Given the description of an element on the screen output the (x, y) to click on. 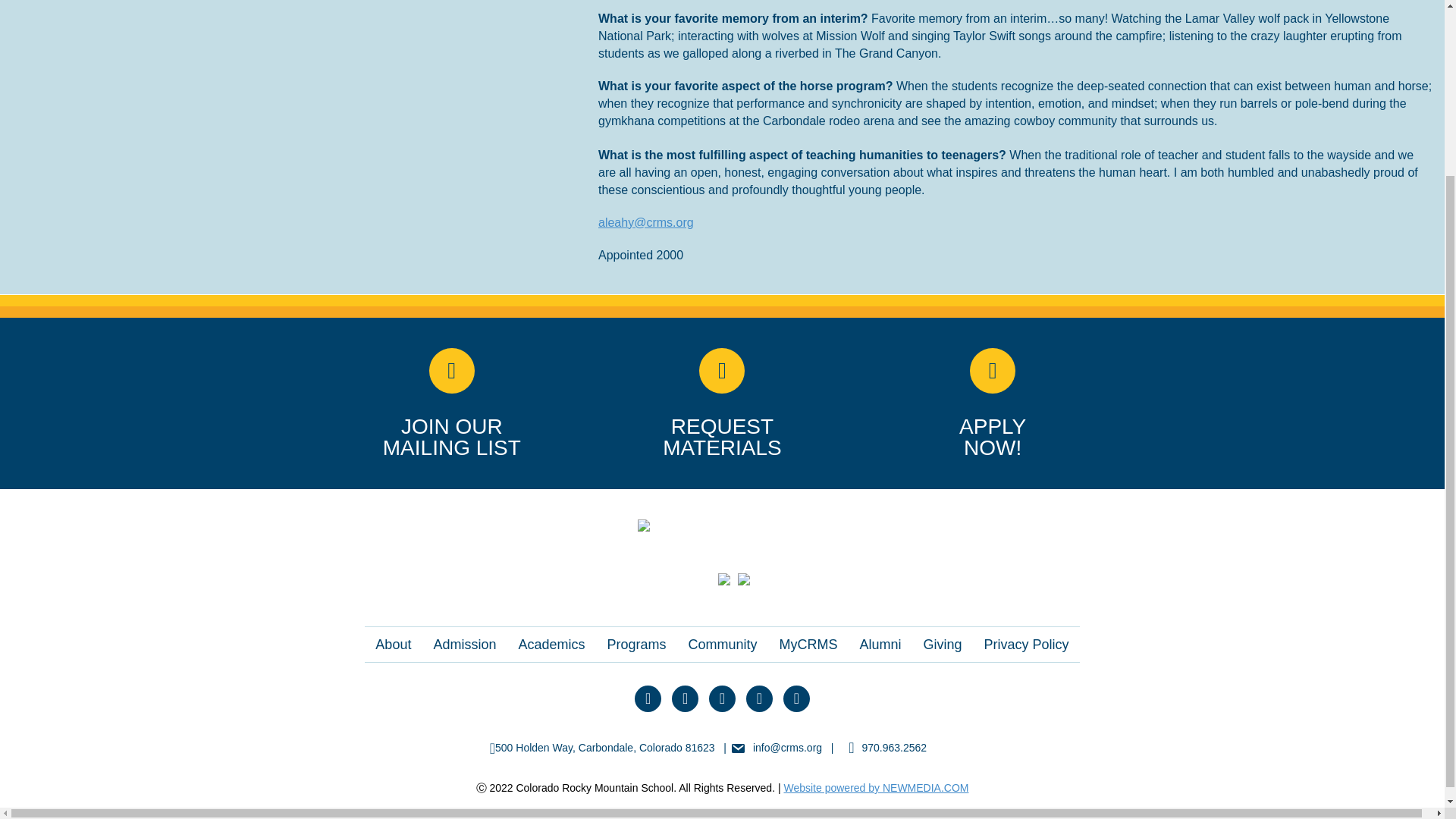
Vector Smart Object2 copy (722, 525)
